Given the description of an element on the screen output the (x, y) to click on. 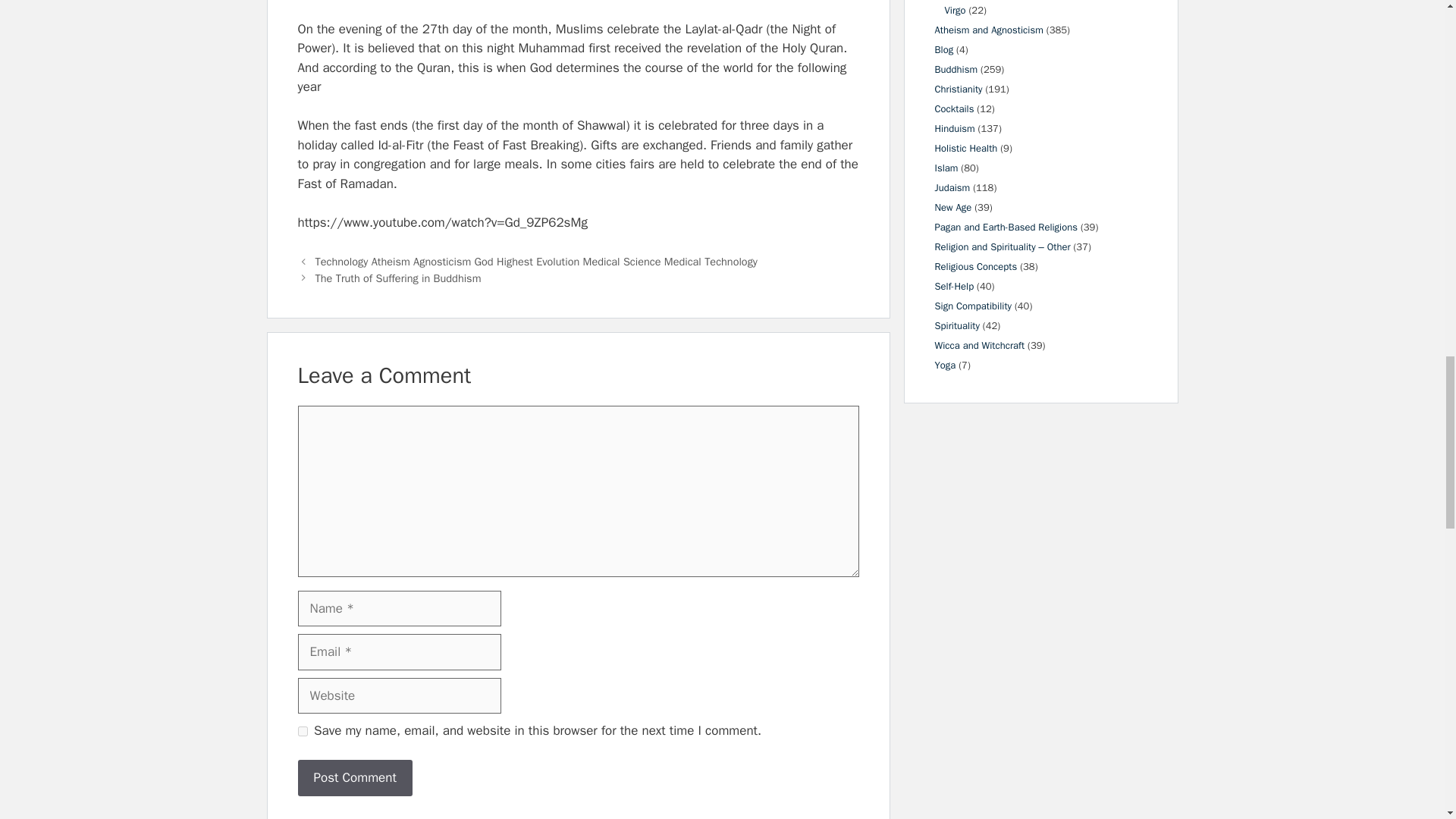
Post Comment (354, 778)
yes (302, 731)
